Given the description of an element on the screen output the (x, y) to click on. 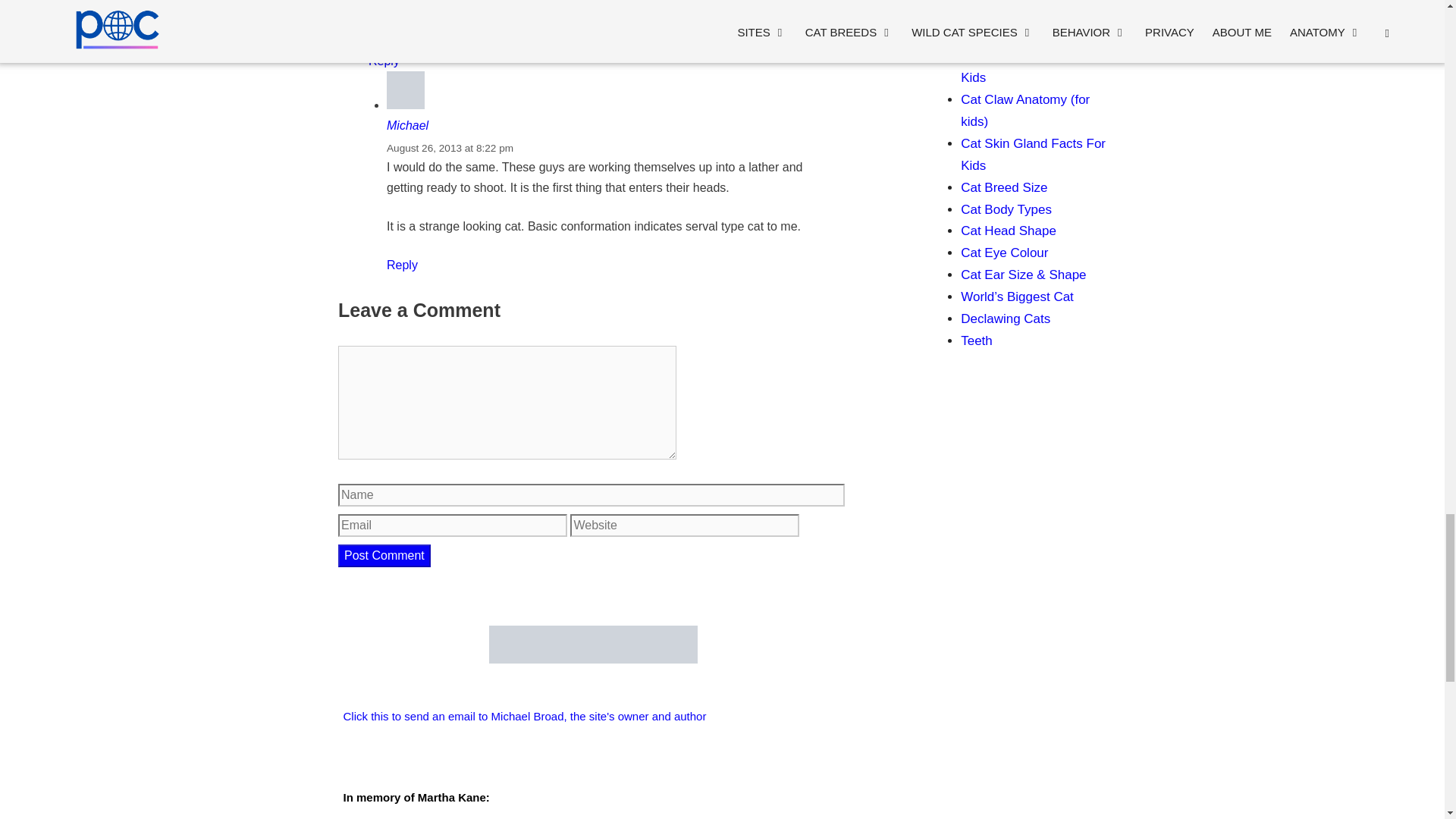
Post Comment (383, 555)
